Given the description of an element on the screen output the (x, y) to click on. 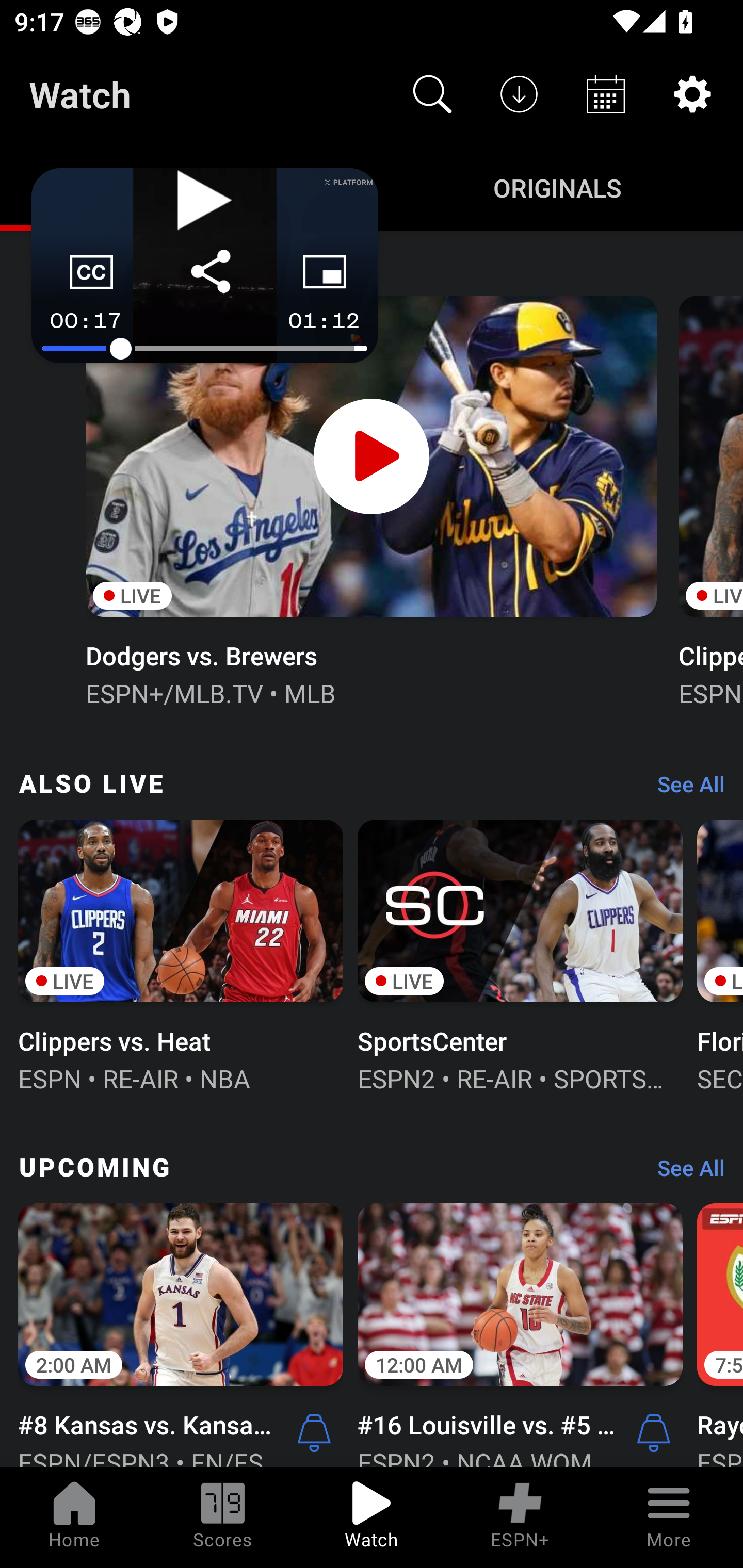
Search (432, 93)
Downloads (518, 93)
Schedule (605, 93)
Settings (692, 93)
Originals ORIGINALS (557, 187)
 LIVE Dodgers vs. Brewers ESPN+/MLB.TV • MLB (370, 499)
See All (683, 788)
LIVE Clippers vs. Heat ESPN • RE-AIR • NBA (180, 954)
LIVE SportsCenter ESPN2 • RE-AIR • SPORTSCENTER (519, 954)
See All (683, 1172)
Alerts (314, 1432)
Alerts (653, 1432)
Home (74, 1517)
Scores (222, 1517)
ESPN+ (519, 1517)
More (668, 1517)
